Given the description of an element on the screen output the (x, y) to click on. 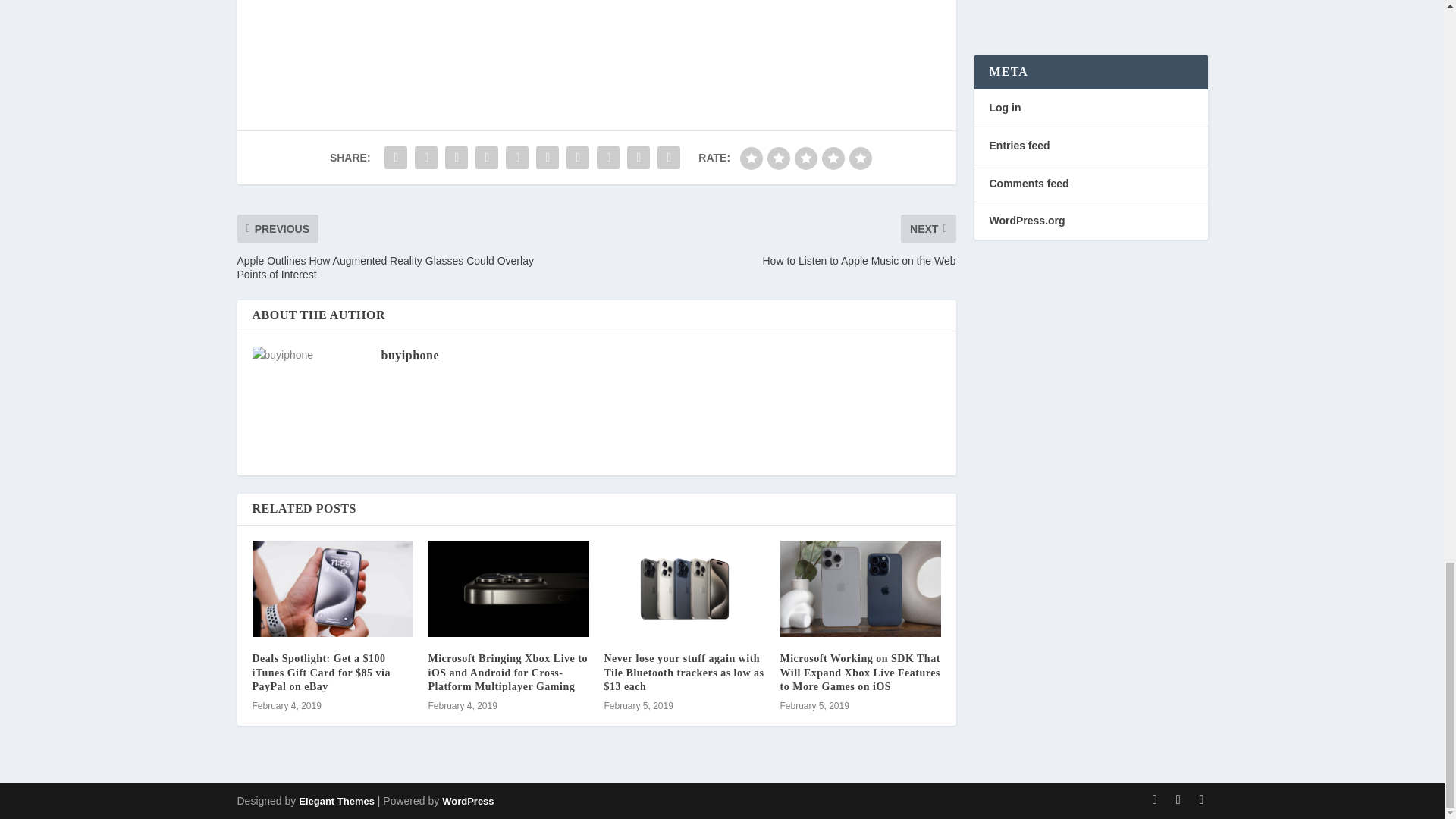
buyiphone (409, 354)
